Given the description of an element on the screen output the (x, y) to click on. 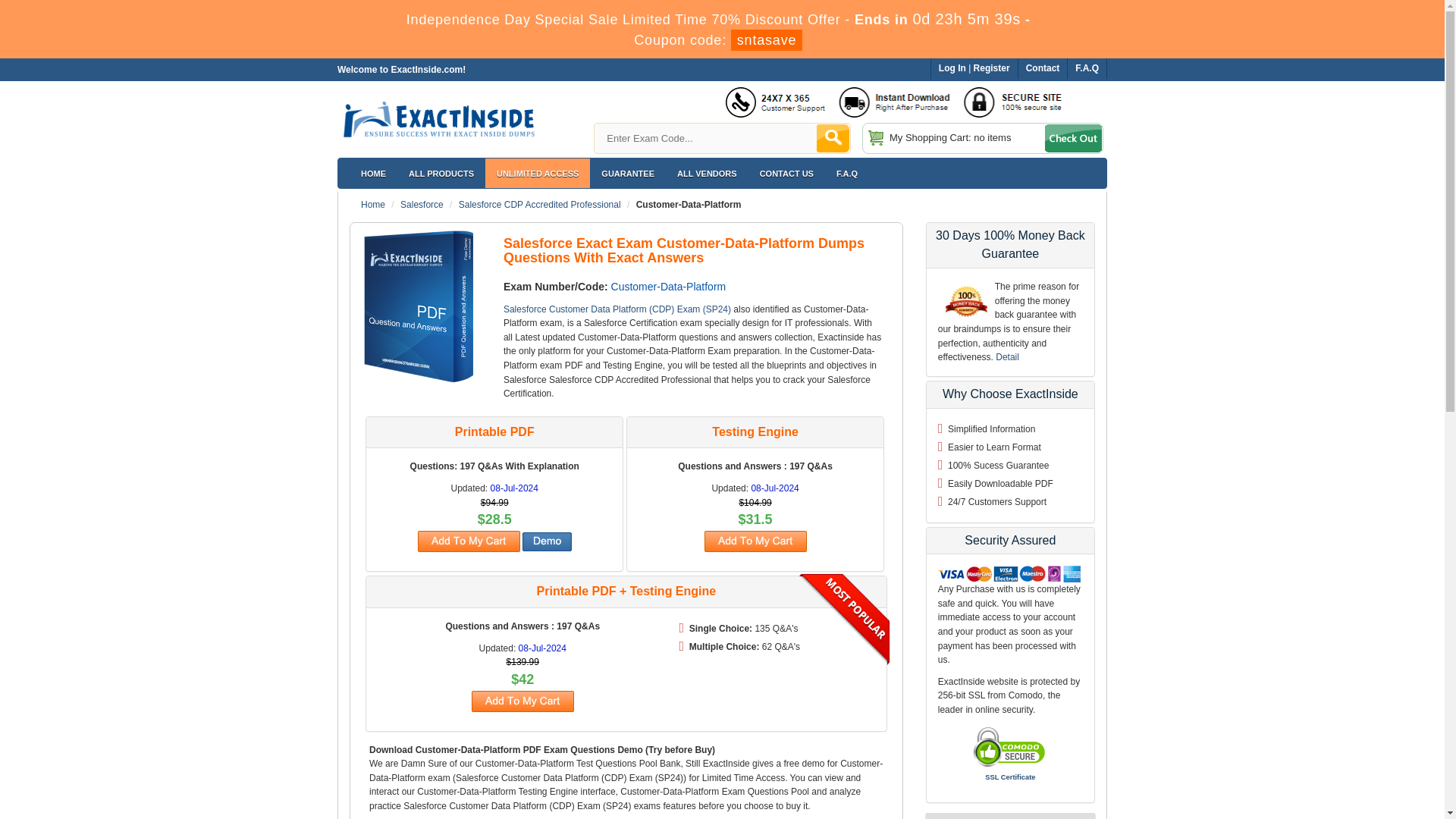
Detail (1007, 357)
Salesforce CDP Accredited Professional (539, 204)
Register (992, 68)
UNLIMITED ACCESS (536, 173)
Log In (952, 68)
HOME (373, 173)
F.A.Q (1087, 68)
SSL Certificate (1010, 777)
Home (373, 204)
ALL PRODUCTS (440, 173)
Contact (1042, 68)
GUARANTEE (627, 173)
CONTACT US (786, 173)
F.A.Q (847, 173)
ALL VENDORS (706, 173)
